Given the description of an element on the screen output the (x, y) to click on. 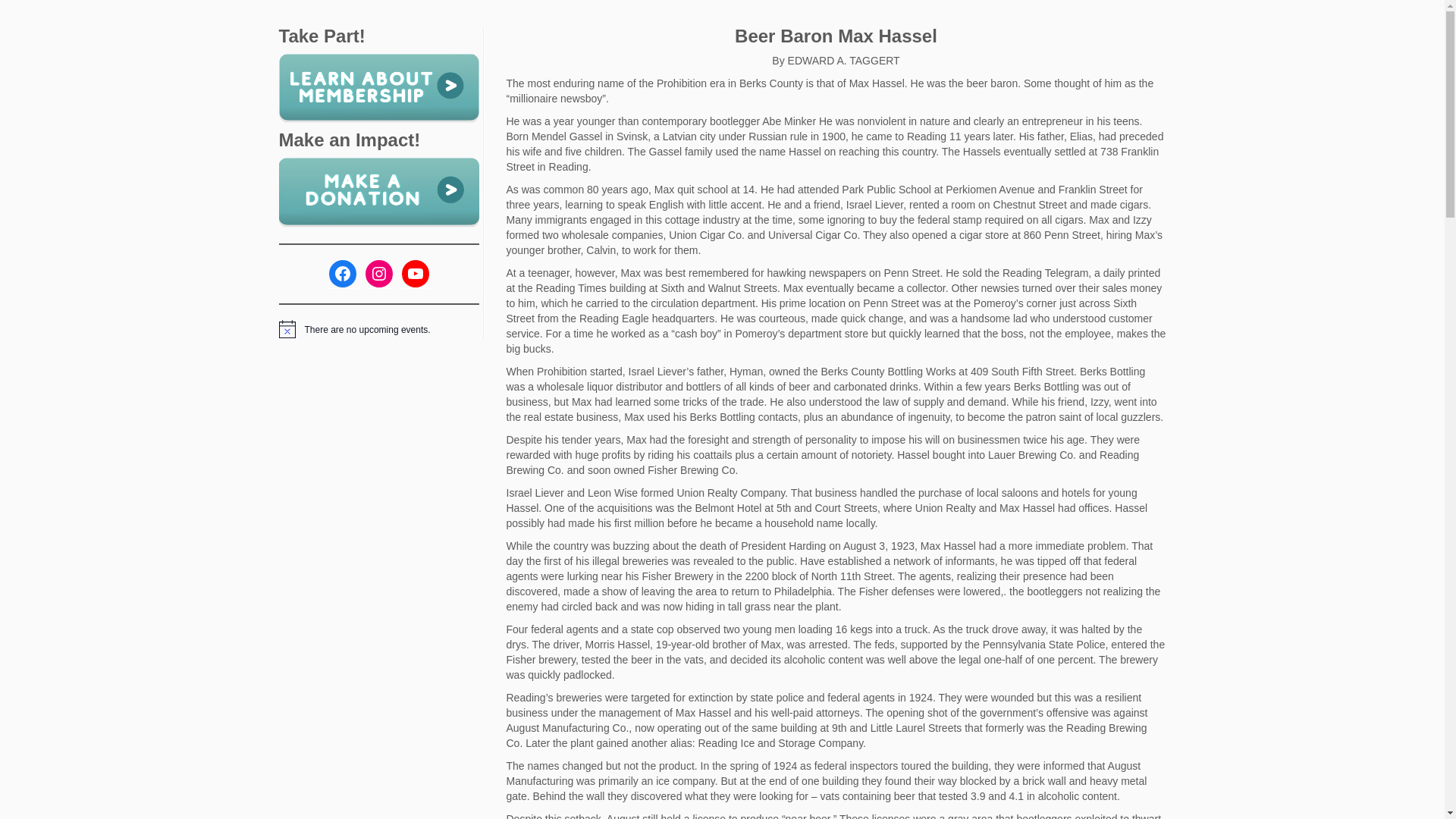
Take Part! (379, 87)
